Given the description of an element on the screen output the (x, y) to click on. 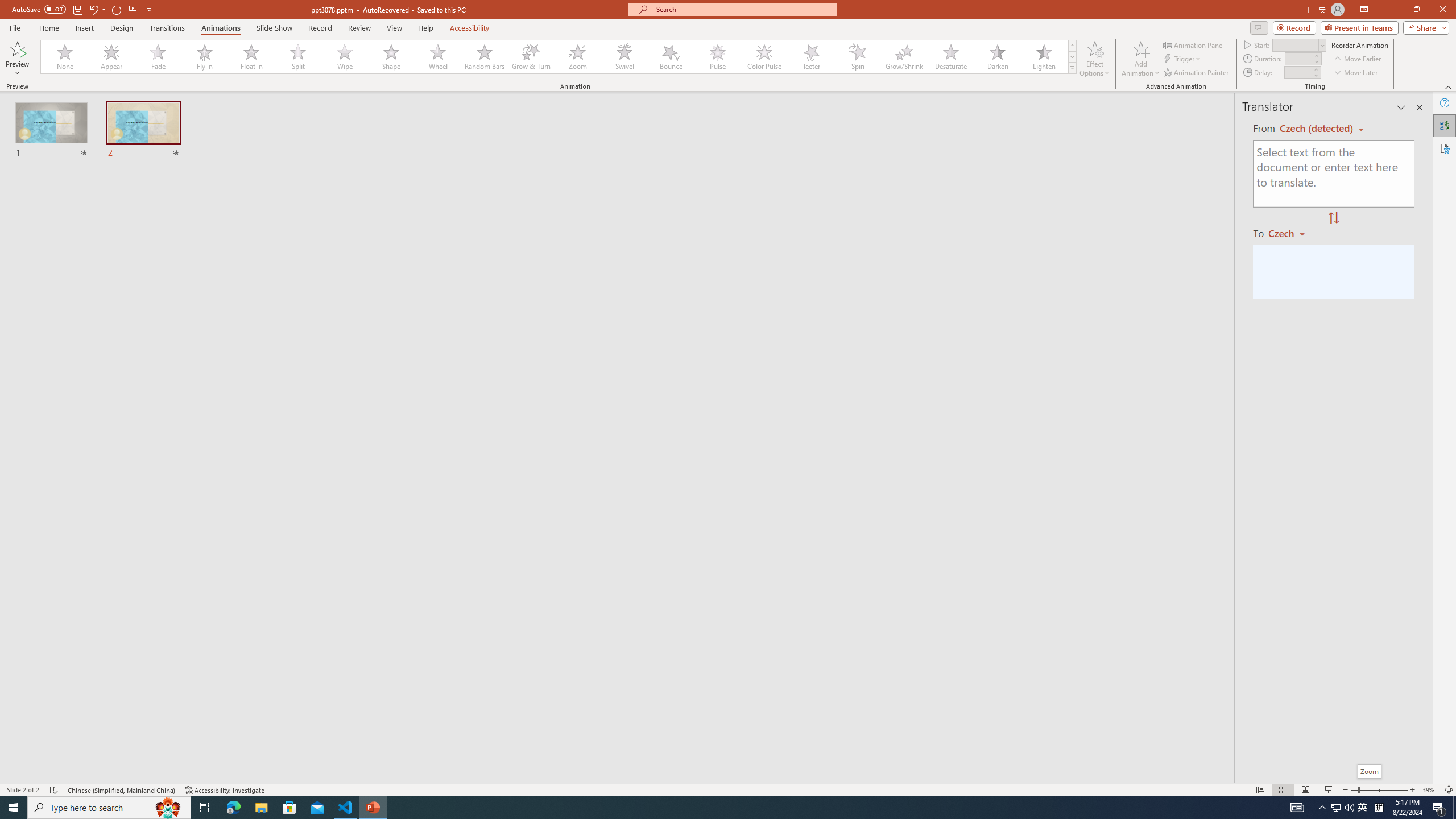
Shape (391, 56)
Color Pulse (764, 56)
Grow/Shrink (903, 56)
Lighten (1043, 56)
Split (298, 56)
Desaturate (950, 56)
